Given the description of an element on the screen output the (x, y) to click on. 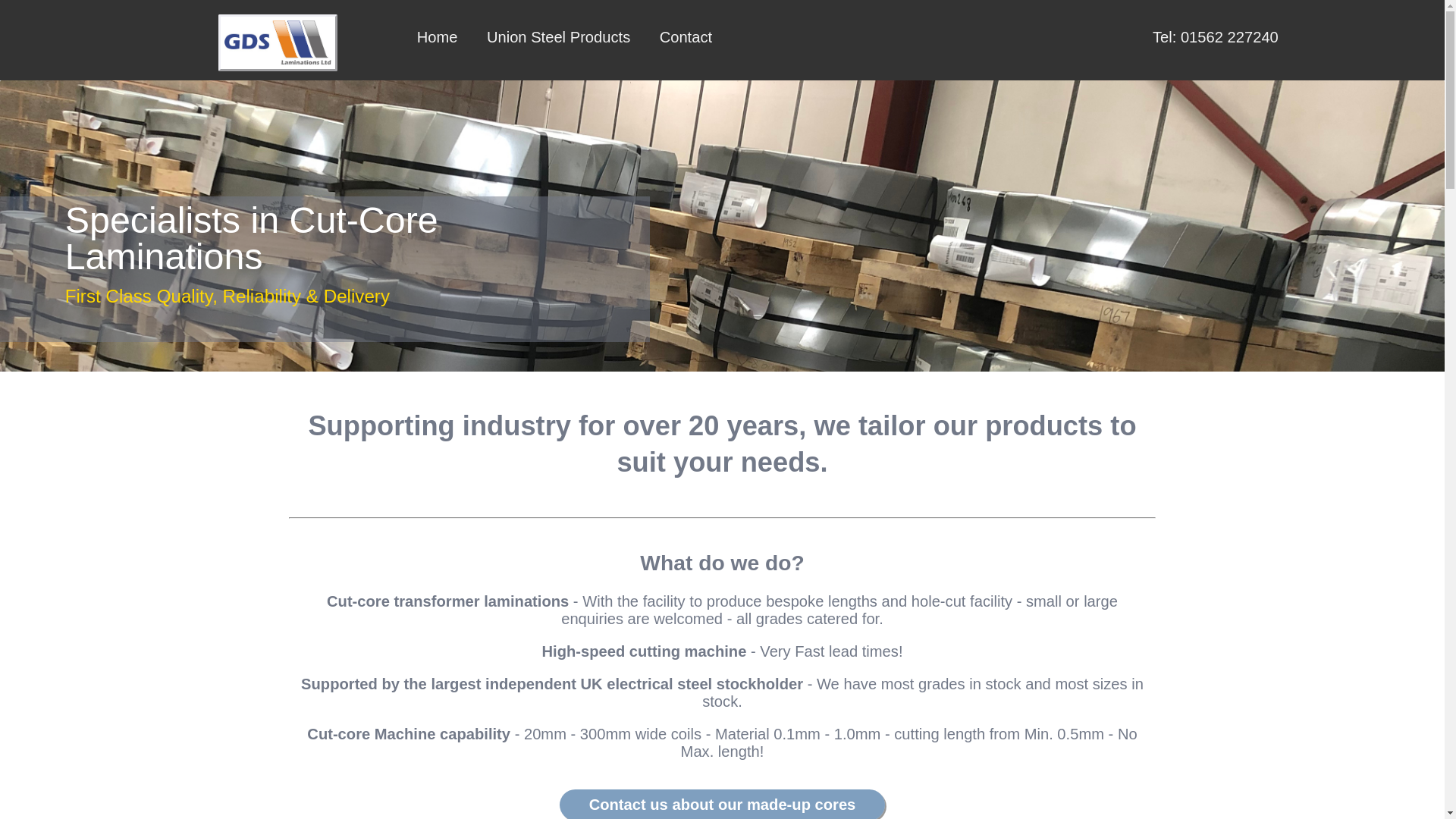
Home (437, 34)
Contact (685, 34)
Contact us about our made-up cores (722, 804)
Union Steel Products (558, 34)
